Given the description of an element on the screen output the (x, y) to click on. 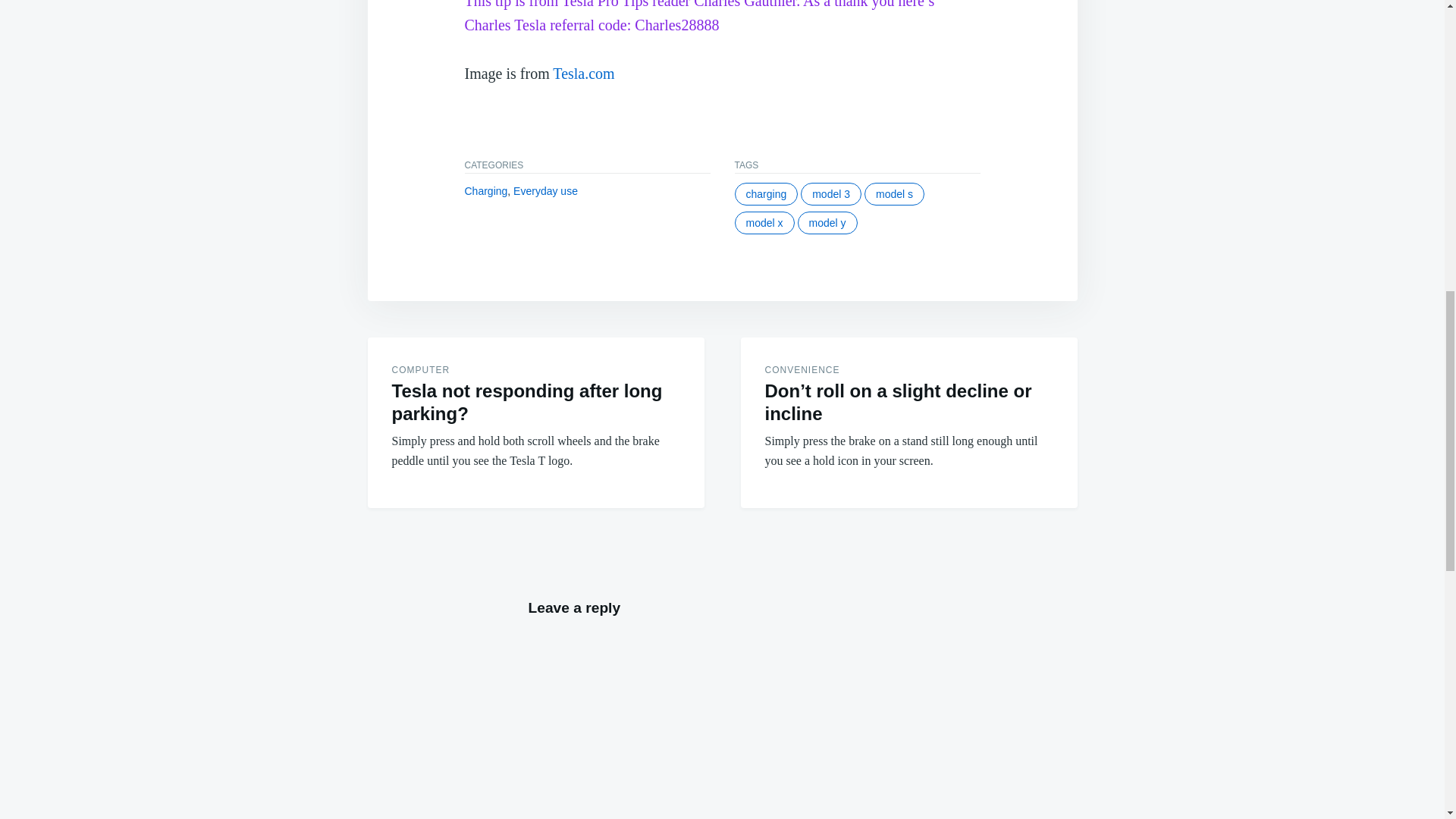
COMPUTER (420, 369)
model s (894, 193)
Tesla not responding after long parking? (526, 402)
model x (763, 222)
Tesla Pro Tips (604, 4)
model y (827, 222)
model 3 (830, 193)
Tesla.com (583, 73)
Everyday use (545, 191)
Comment Form (721, 721)
Charging (485, 191)
CONVENIENCE (802, 369)
charging (765, 193)
Charles28888 (676, 24)
